Given the description of an element on the screen output the (x, y) to click on. 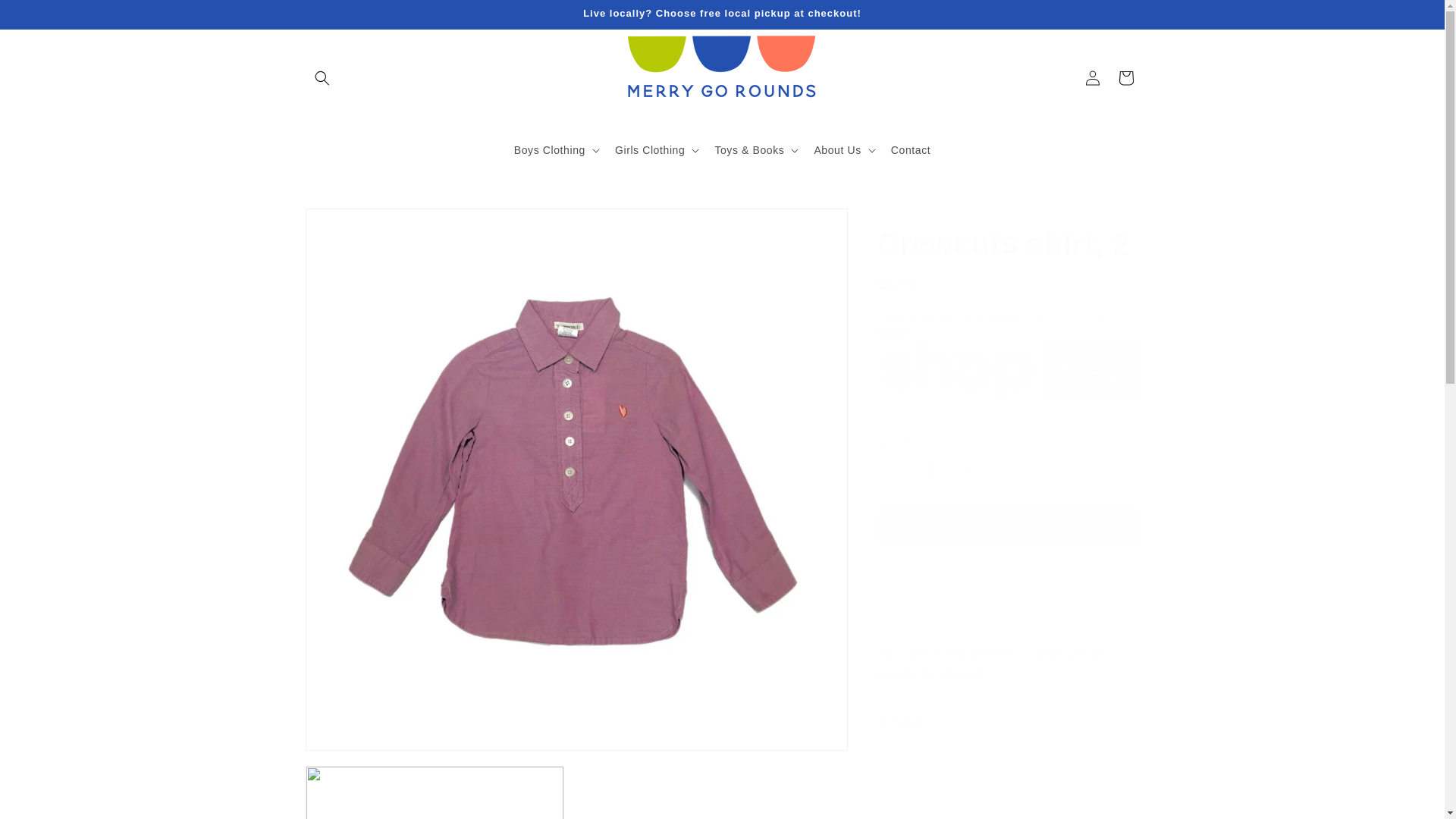
Skip to content (46, 18)
1 (931, 470)
Open media 2 in modal (434, 792)
